Given the description of an element on the screen output the (x, y) to click on. 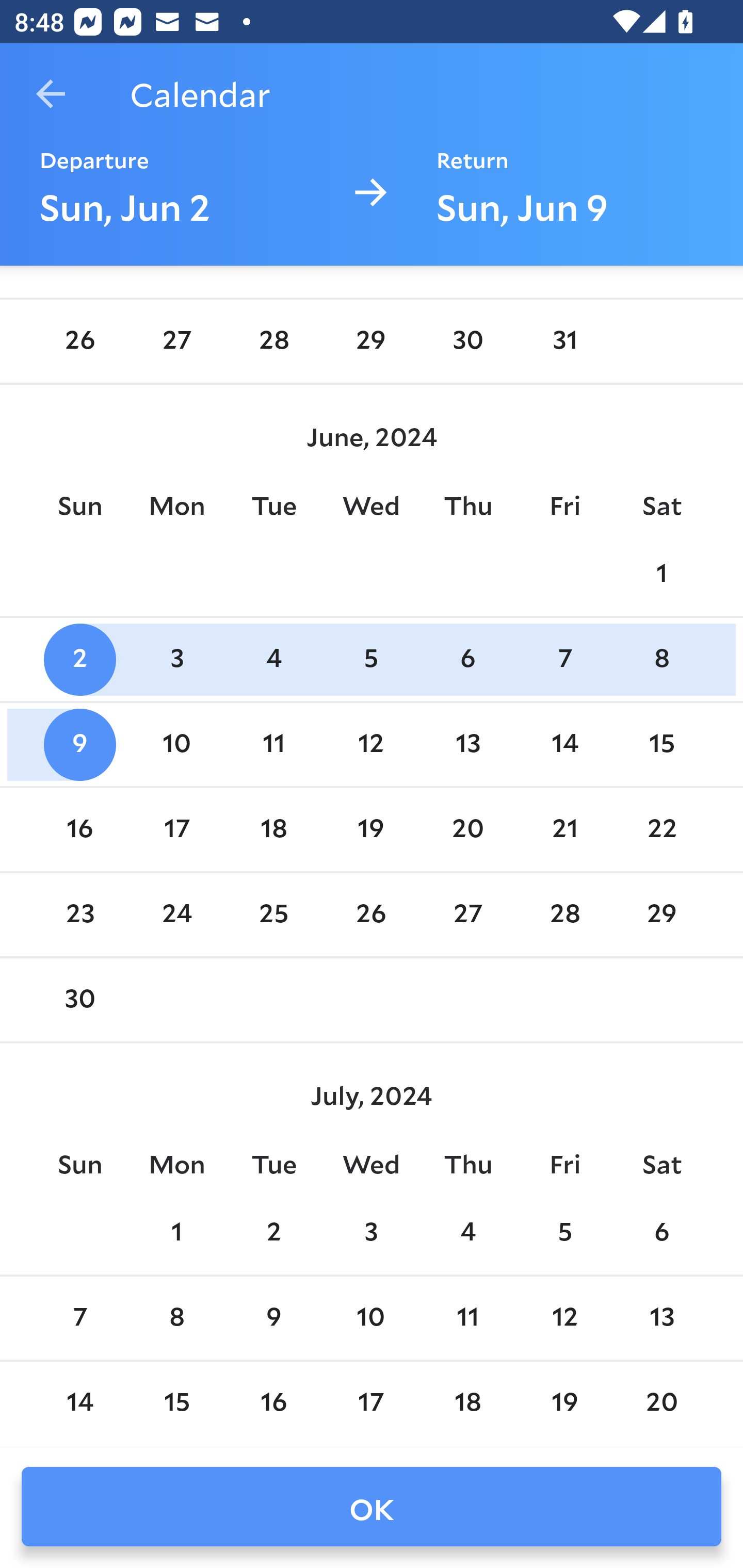
Navigate up (50, 93)
26 (79, 341)
27 (177, 341)
28 (273, 341)
29 (371, 341)
30 (467, 341)
31 (565, 341)
1 (661, 573)
2 (79, 660)
3 (177, 660)
4 (273, 660)
5 (371, 660)
6 (467, 660)
7 (565, 660)
8 (661, 660)
9 (79, 744)
10 (177, 744)
11 (273, 744)
12 (371, 744)
13 (467, 744)
14 (565, 744)
15 (661, 744)
16 (79, 829)
17 (177, 829)
18 (273, 829)
19 (371, 829)
20 (467, 829)
21 (565, 829)
22 (661, 829)
23 (79, 915)
24 (177, 915)
25 (273, 915)
26 (371, 915)
27 (467, 915)
28 (565, 915)
29 (661, 915)
30 (79, 1000)
1 (177, 1233)
2 (273, 1233)
3 (371, 1233)
4 (467, 1233)
5 (565, 1233)
6 (661, 1233)
7 (79, 1318)
8 (177, 1318)
9 (273, 1318)
10 (371, 1318)
11 (467, 1318)
12 (565, 1318)
13 (661, 1318)
14 (79, 1403)
15 (177, 1403)
16 (273, 1403)
17 (371, 1403)
18 (467, 1403)
19 (565, 1403)
20 (661, 1403)
OK (371, 1506)
